Given the description of an element on the screen output the (x, y) to click on. 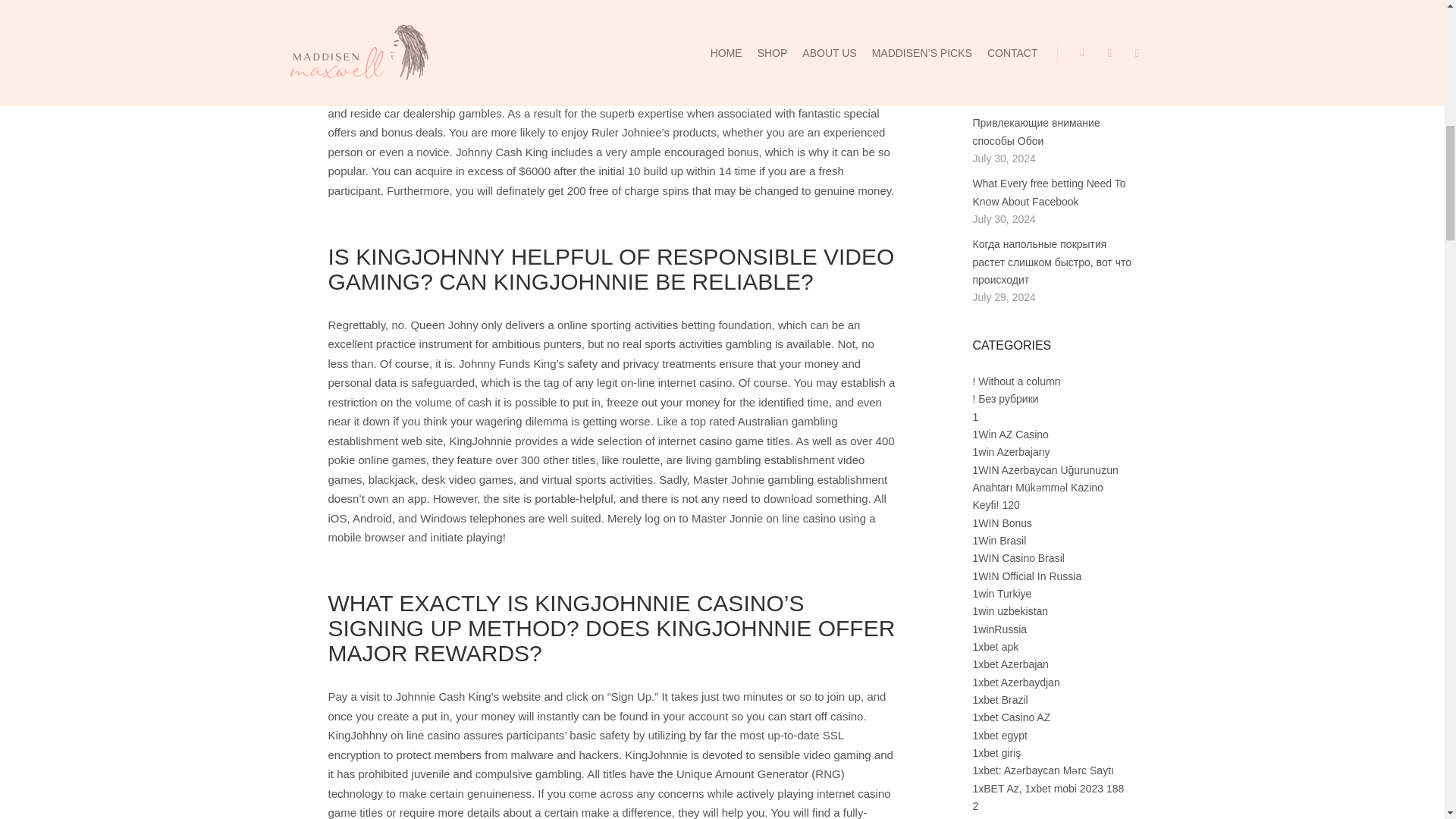
What Every free betting Need To Know About Facebook (1048, 192)
1win Turkiye (1001, 593)
Facebook (981, 38)
1WIN Official In Russia (1026, 576)
YouTube (1050, 38)
Instagram (1004, 38)
1xbet apk (994, 646)
! Without a column (1015, 381)
1winRussia (999, 629)
Twitter (1026, 38)
1xbet Azerbajan (1010, 664)
1Win Brasil (999, 540)
1win uzbekistan (1010, 611)
1win Azerbajany (1010, 451)
1Win AZ Casino (1010, 434)
